Given the description of an element on the screen output the (x, y) to click on. 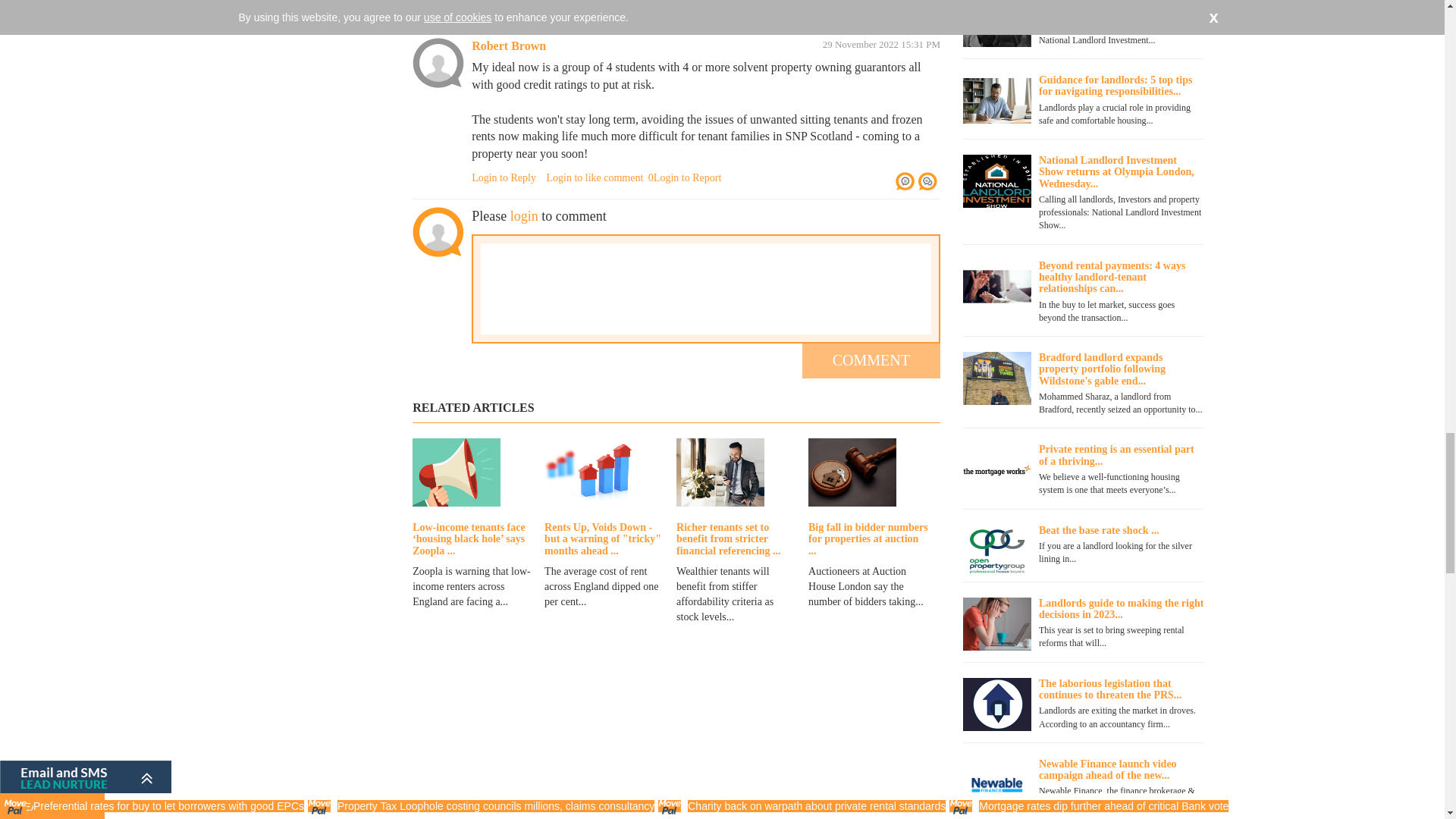
Comment (871, 360)
